Given the description of an element on the screen output the (x, y) to click on. 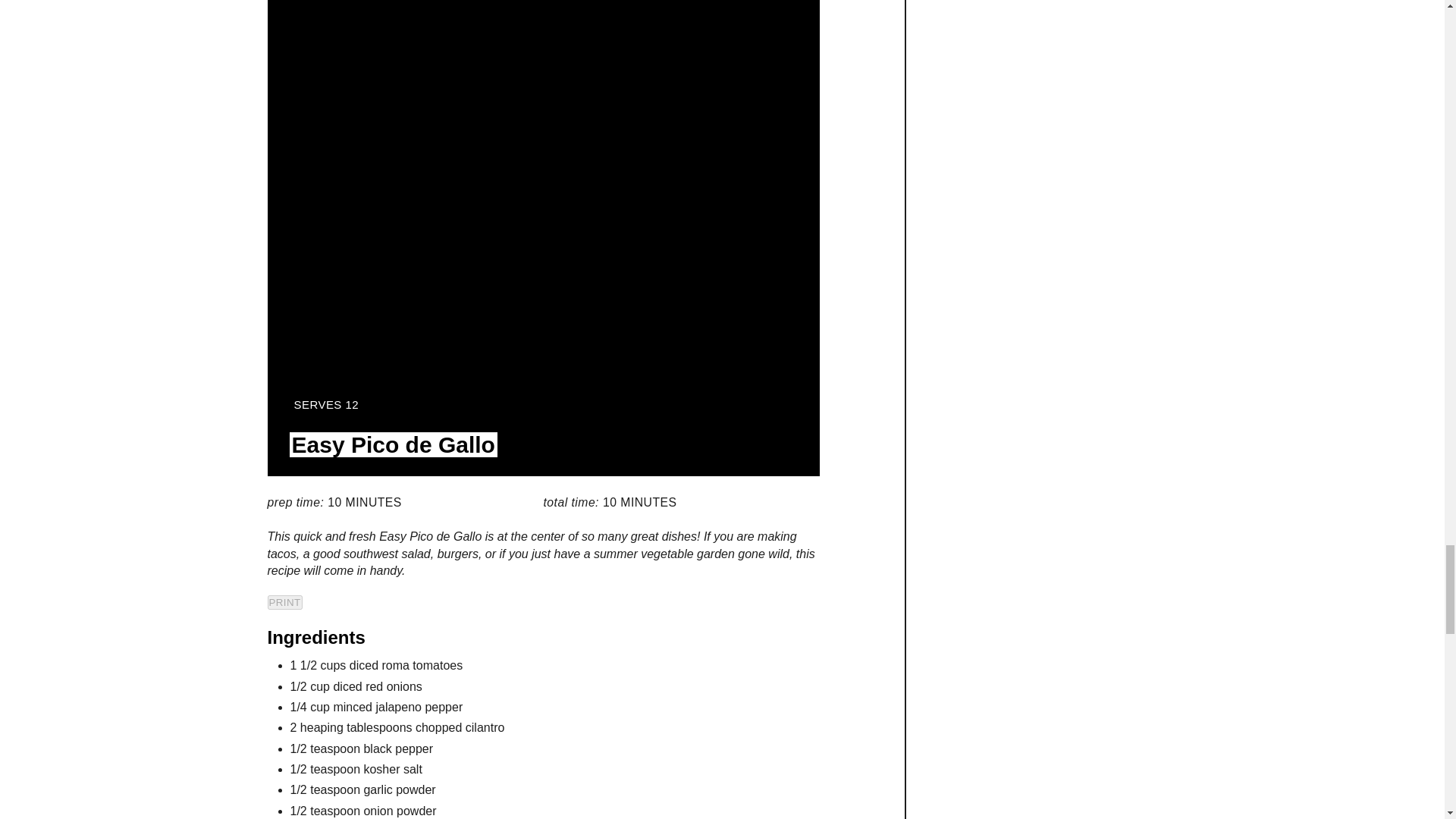
PRINT (283, 602)
